Given the description of an element on the screen output the (x, y) to click on. 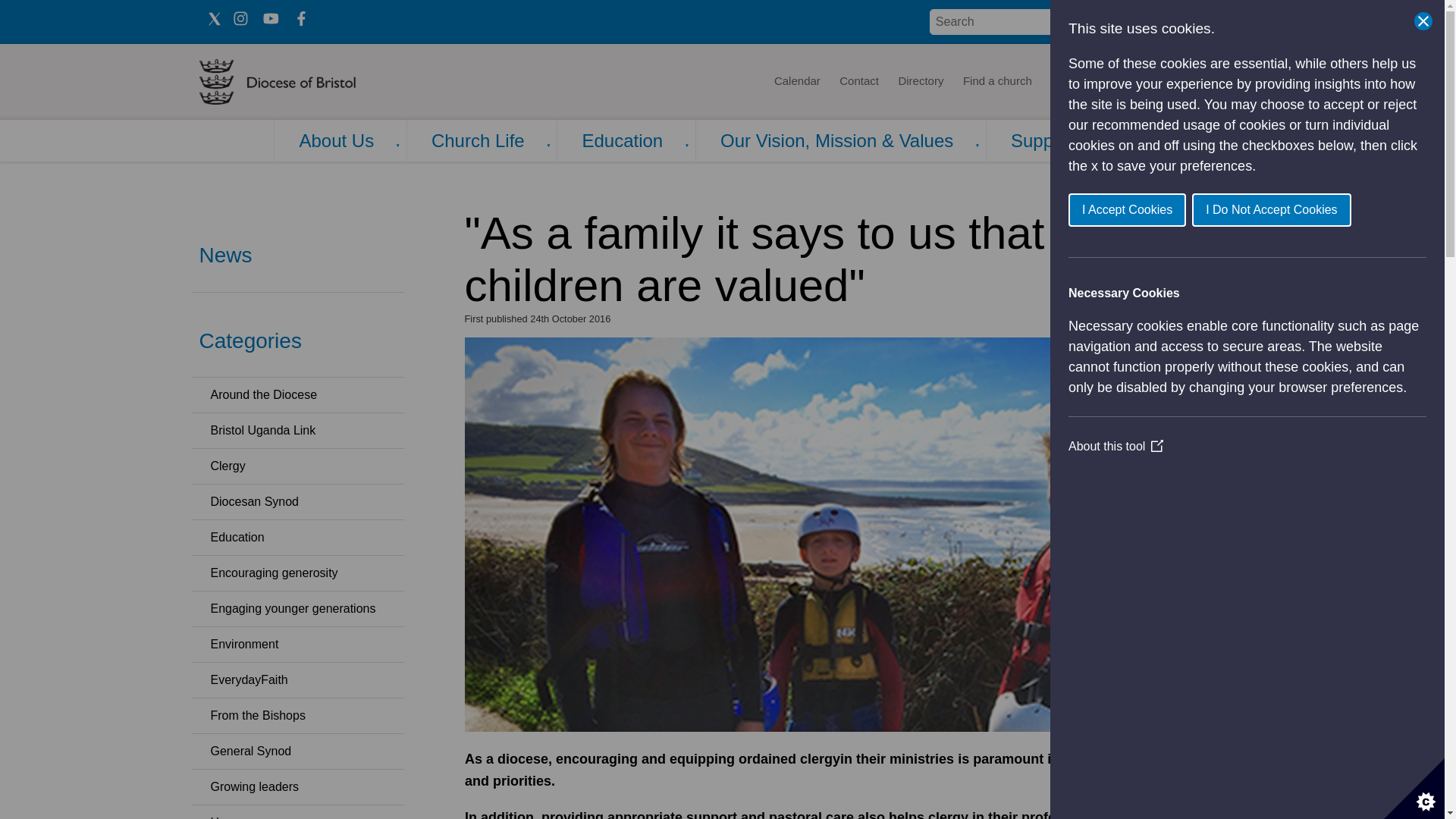
Find a church (997, 81)
Calendar (797, 81)
News (1064, 81)
Vacancies (1124, 81)
Safeguarding (1203, 81)
Contact (858, 81)
Logo (323, 81)
Directory (920, 81)
